Given the description of an element on the screen output the (x, y) to click on. 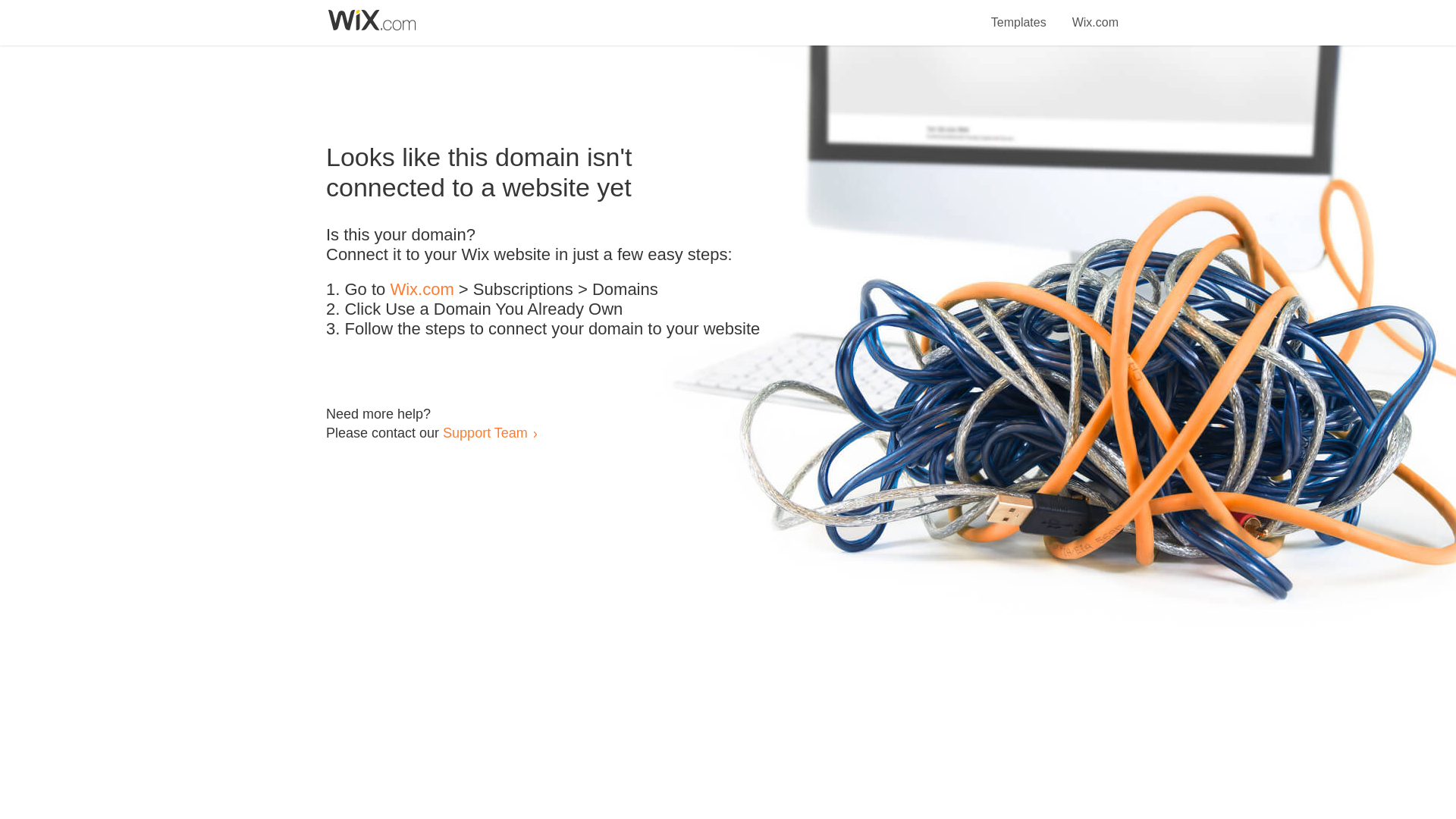
Support Team (484, 432)
Templates (1018, 14)
Wix.com (1095, 14)
Wix.com (421, 289)
